Given the description of an element on the screen output the (x, y) to click on. 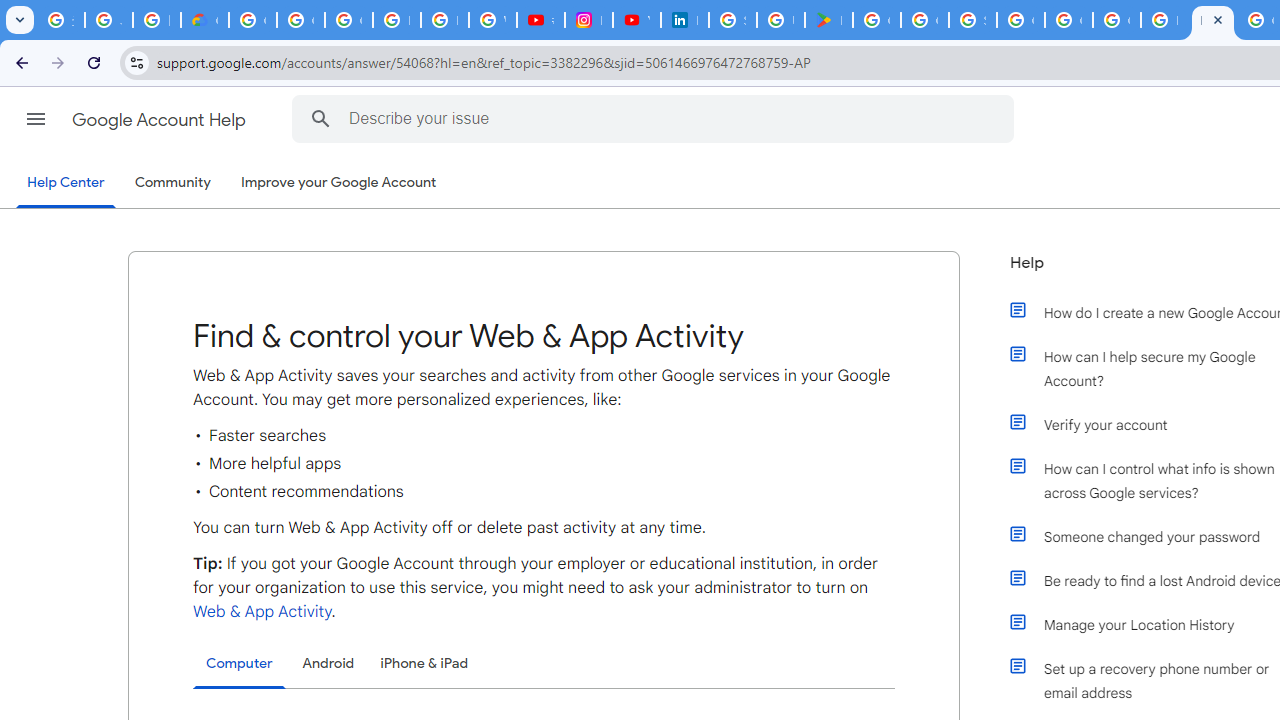
How do I create a new Google Account? - Google Account Help (1164, 20)
Sign in - Google Accounts (732, 20)
Google Account Help (160, 119)
YouTube Culture & Trends - On The Rise: Handcam Videos (636, 20)
Last Shelter: Survival - Apps on Google Play (828, 20)
